Given the description of an element on the screen output the (x, y) to click on. 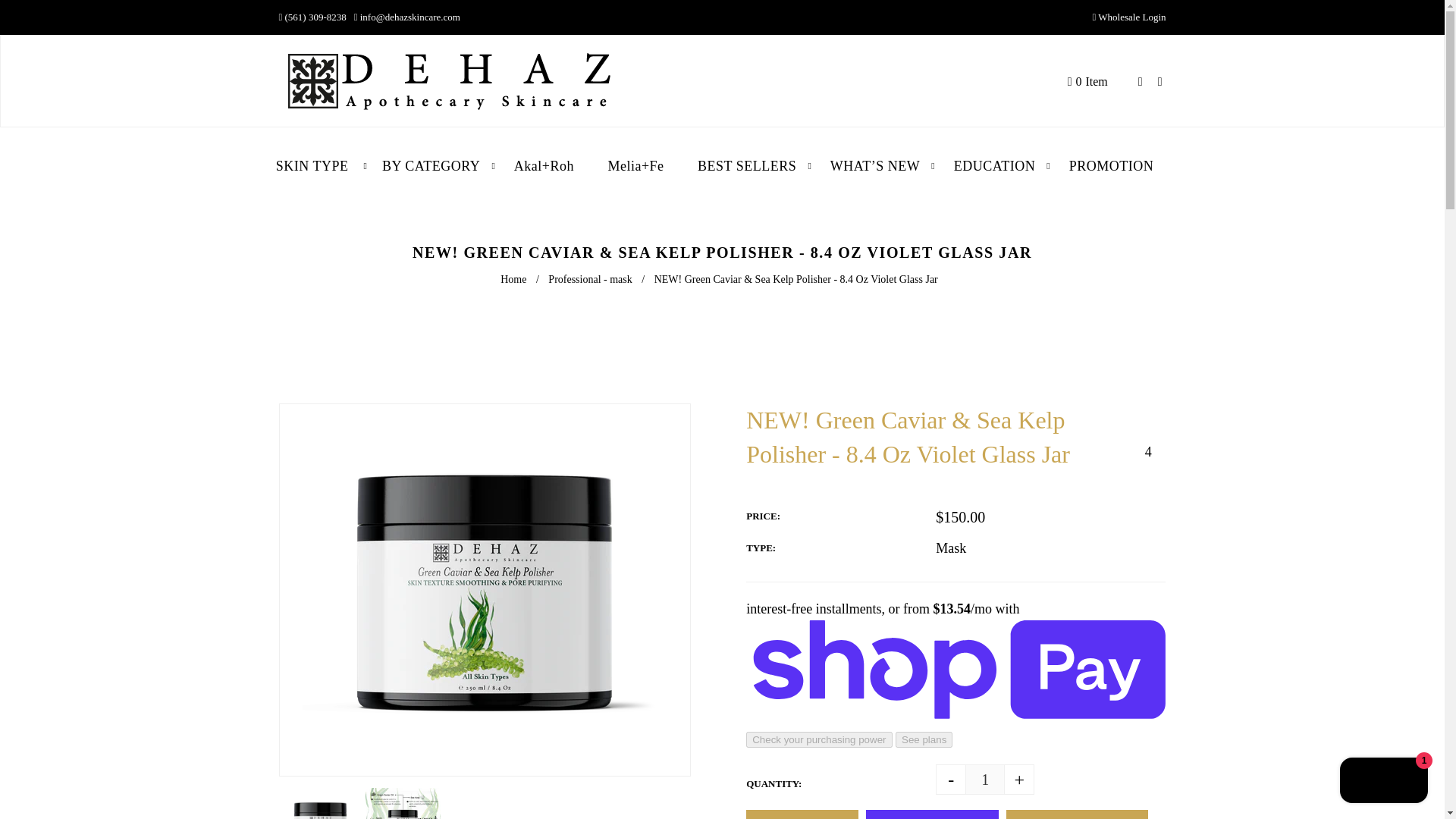
Login (1161, 81)
Wholesale Login (1131, 16)
BY CATEGORY (430, 166)
1 (985, 779)
Shopify online store chat (1383, 781)
BEST SELLERS (746, 166)
EDUCATION (995, 166)
SKIN TYPE (320, 166)
Back to the frontpage (514, 279)
